Given the description of an element on the screen output the (x, y) to click on. 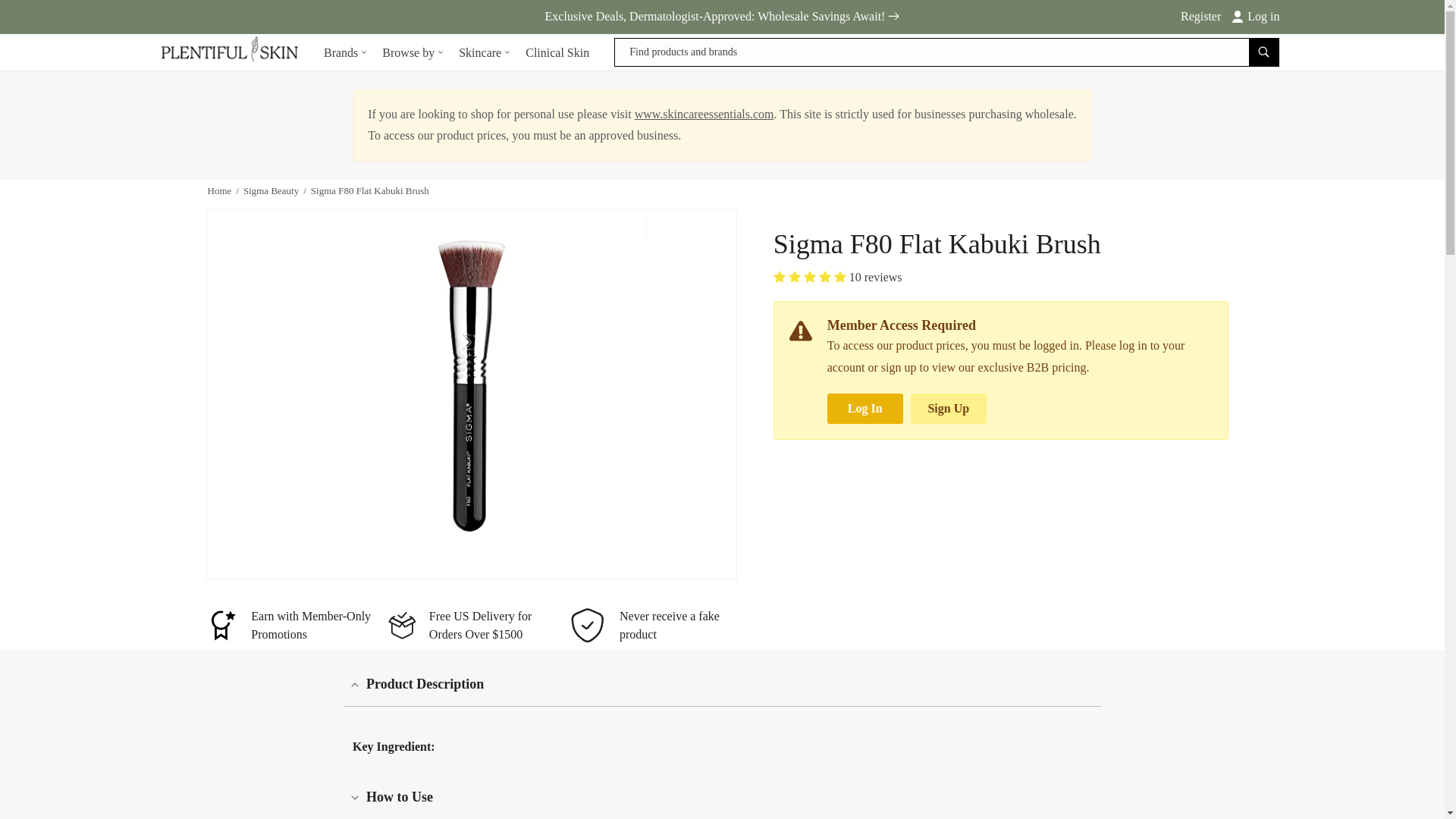
Skip to content (45, 17)
